Given the description of an element on the screen output the (x, y) to click on. 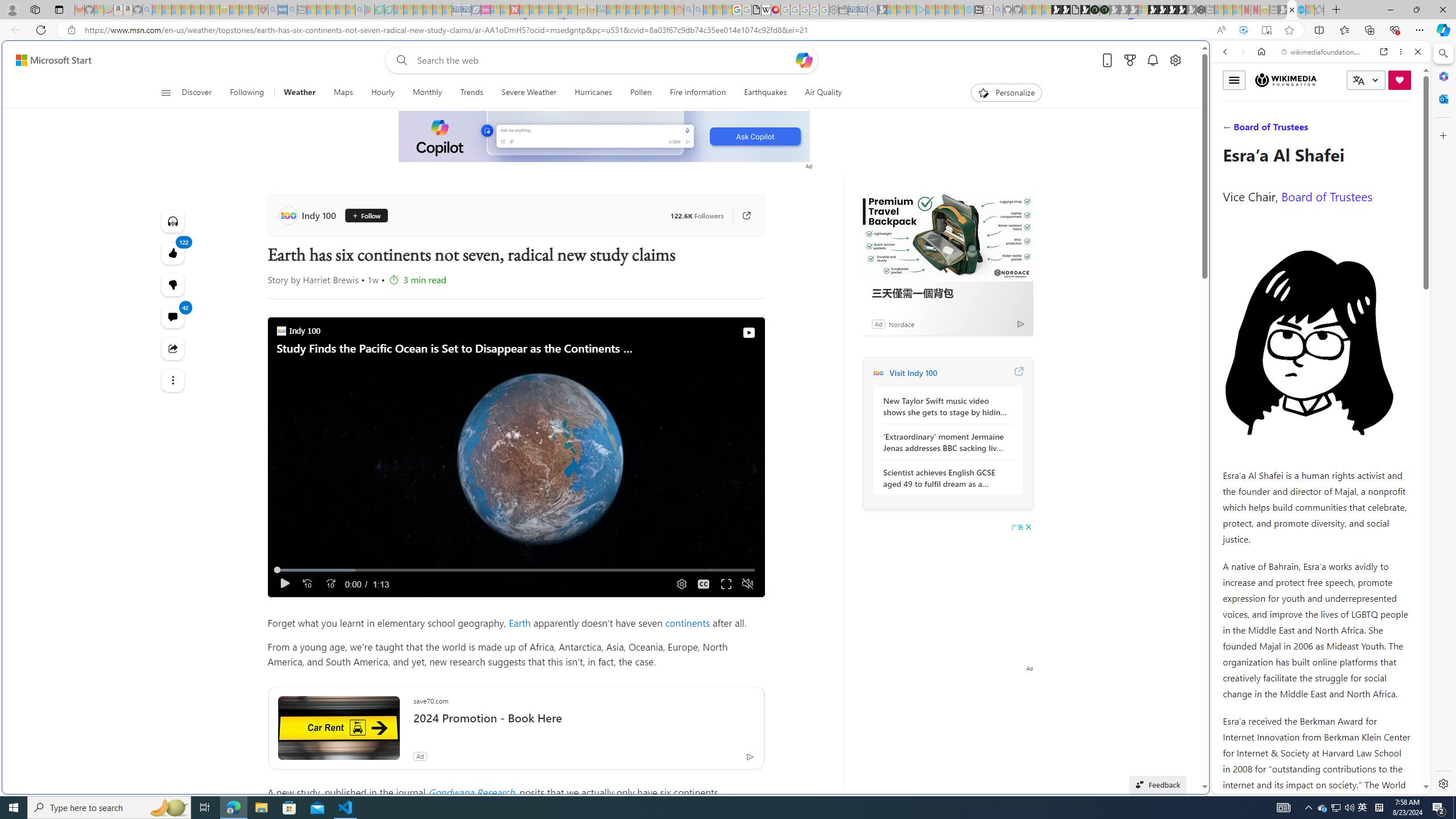
Captions (702, 583)
Kinda Frugal - MSN - Sleeping (649, 9)
MSN - Sleeping (1283, 9)
Earth (519, 621)
Donate now (1399, 80)
